Given the description of an element on the screen output the (x, y) to click on. 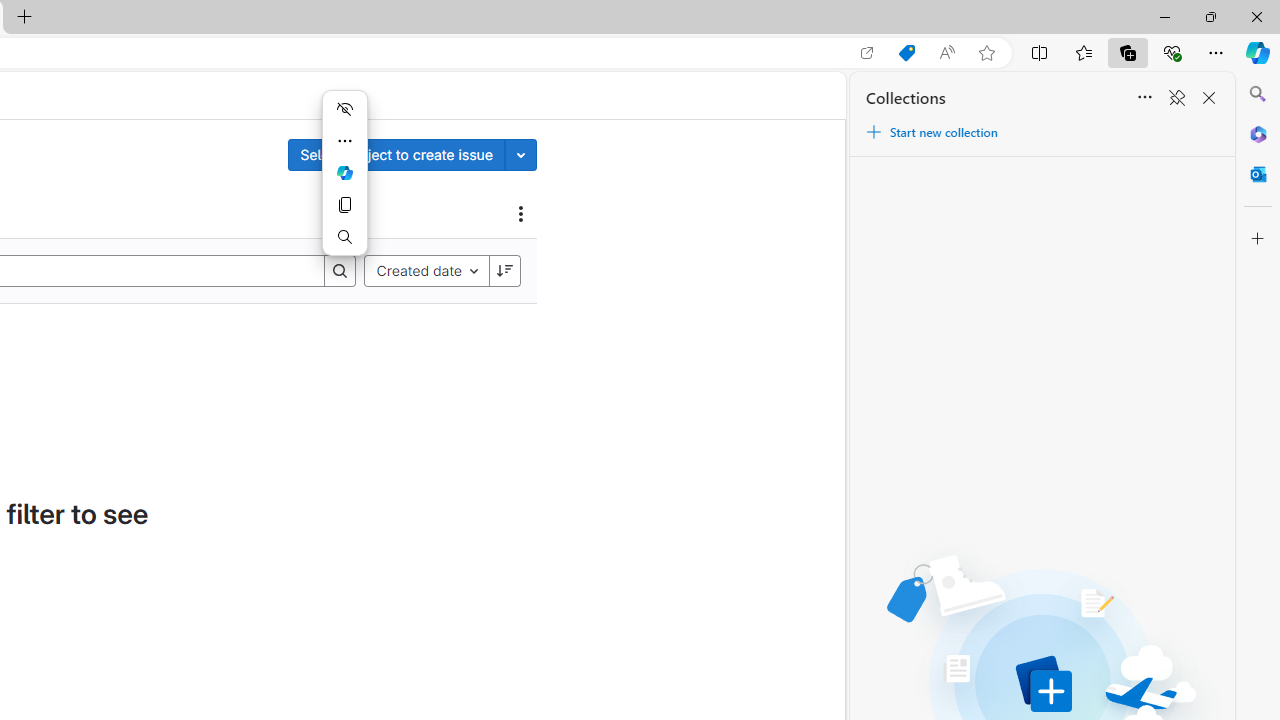
Created date (426, 270)
Actions (521, 213)
